Given the description of an element on the screen output the (x, y) to click on. 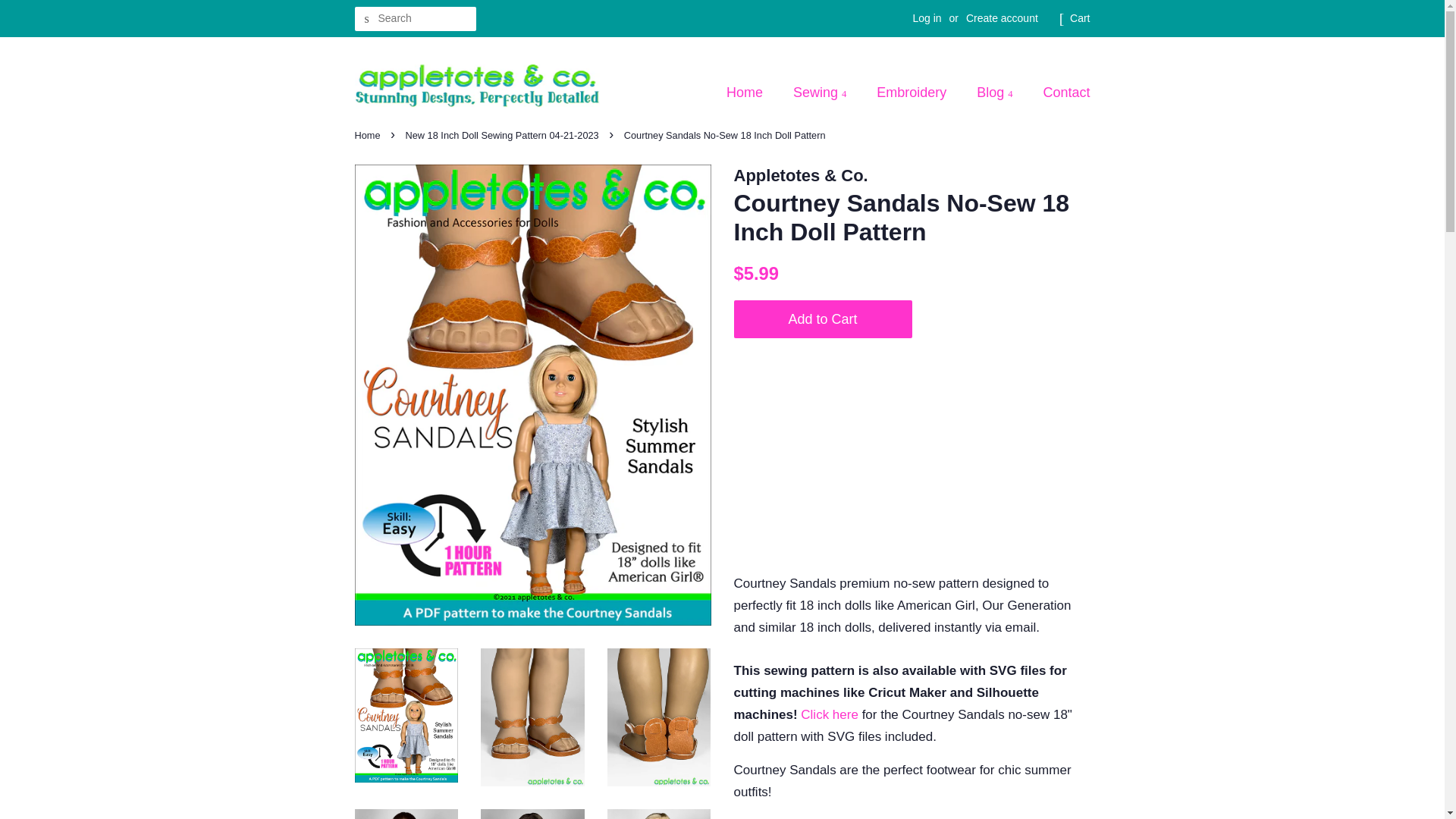
Sewing (821, 92)
Back to the frontpage (369, 134)
Create account (1002, 18)
Cart (1079, 18)
Home (751, 92)
Log in (927, 18)
Search (366, 18)
Embroidery (912, 92)
